Given the description of an element on the screen output the (x, y) to click on. 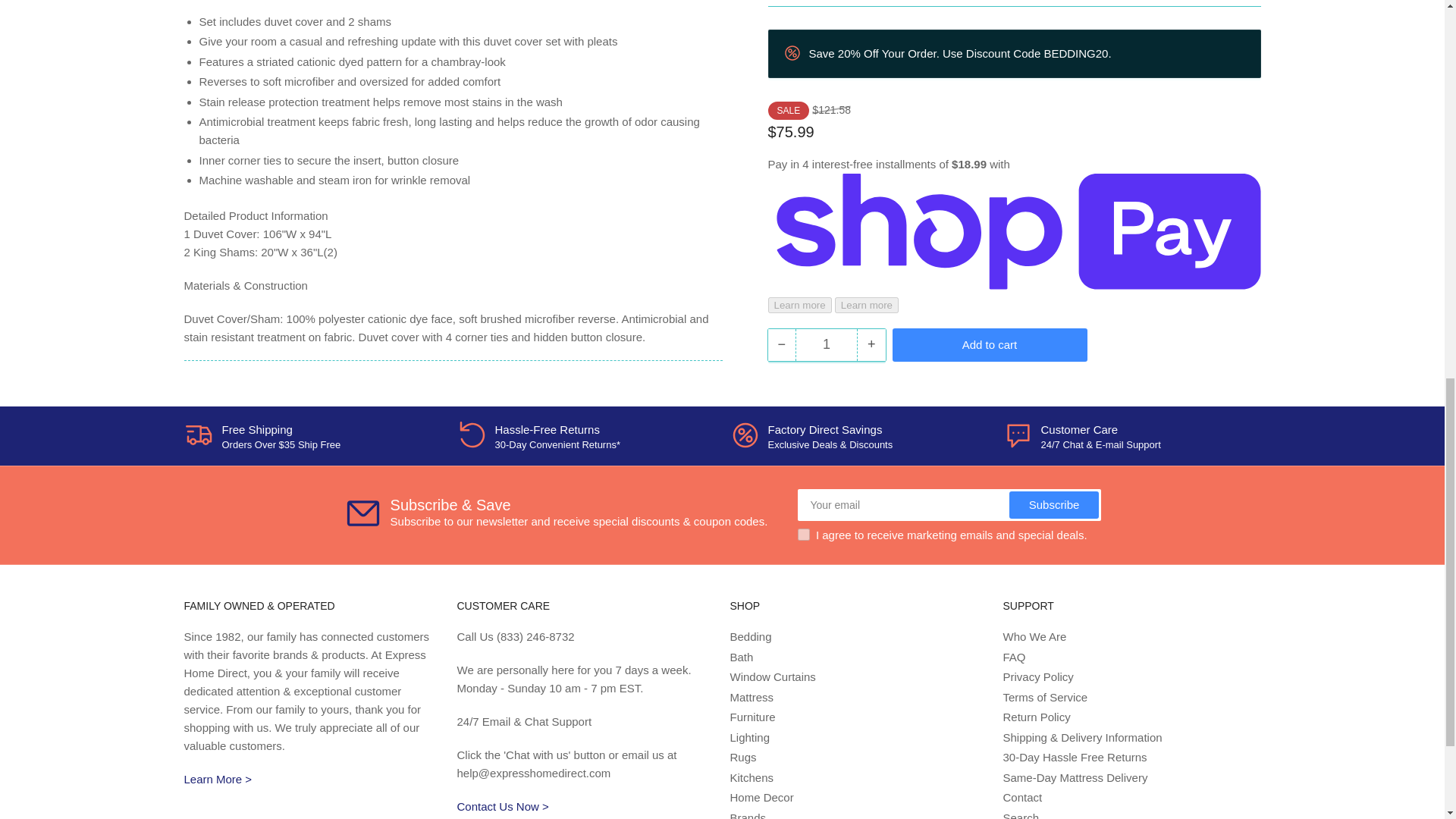
About Us (217, 779)
on (803, 534)
Contact (502, 806)
